Given the description of an element on the screen output the (x, y) to click on. 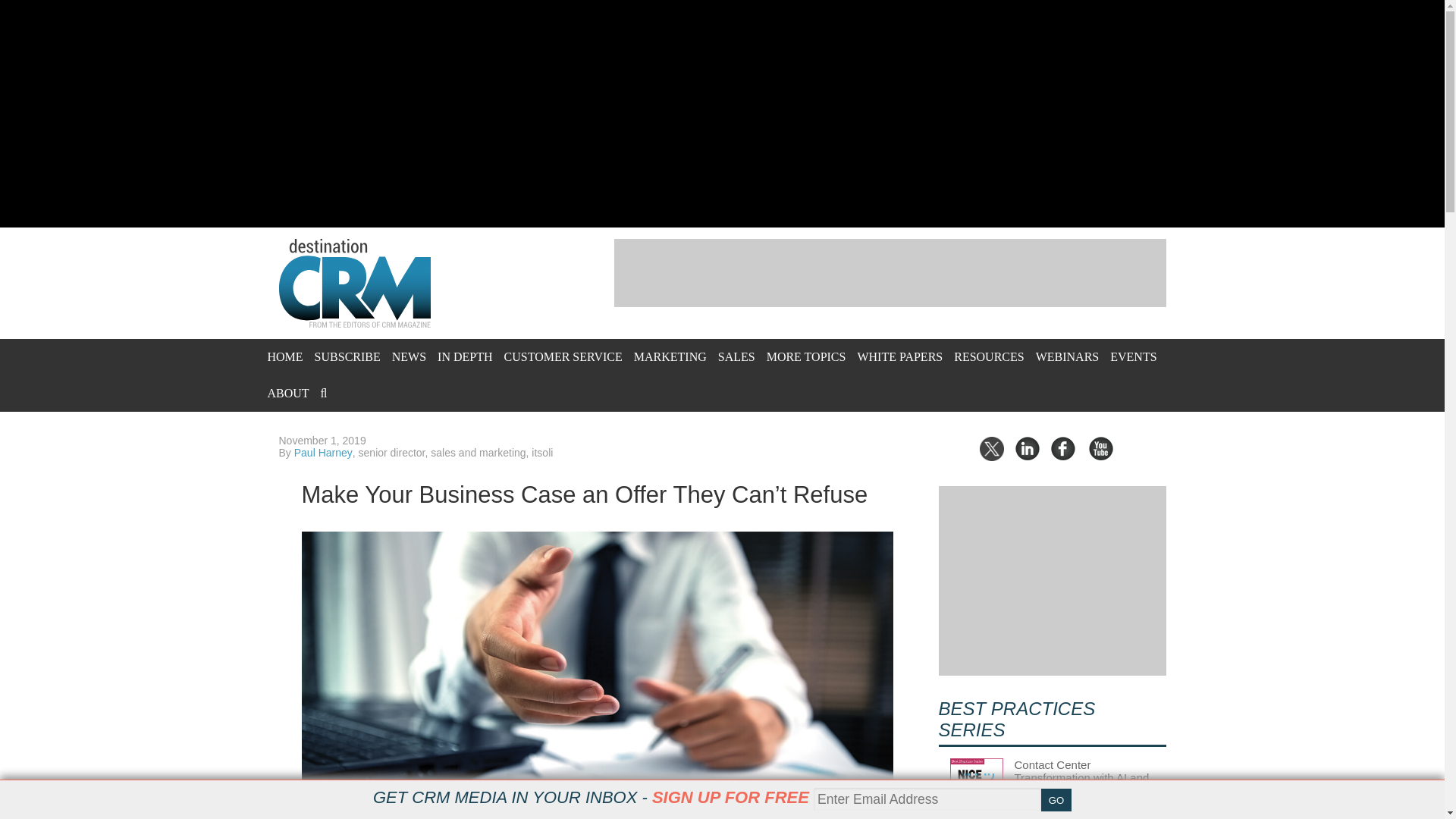
RESOURCES (988, 357)
IN DEPTH (465, 357)
Sales (736, 357)
NEWS (408, 357)
Customer Service (563, 357)
Marketing (669, 357)
CUSTOMER SERVICE (563, 357)
WHITE PAPERS (899, 357)
SUBSCRIBE (347, 357)
